Given the description of an element on the screen output the (x, y) to click on. 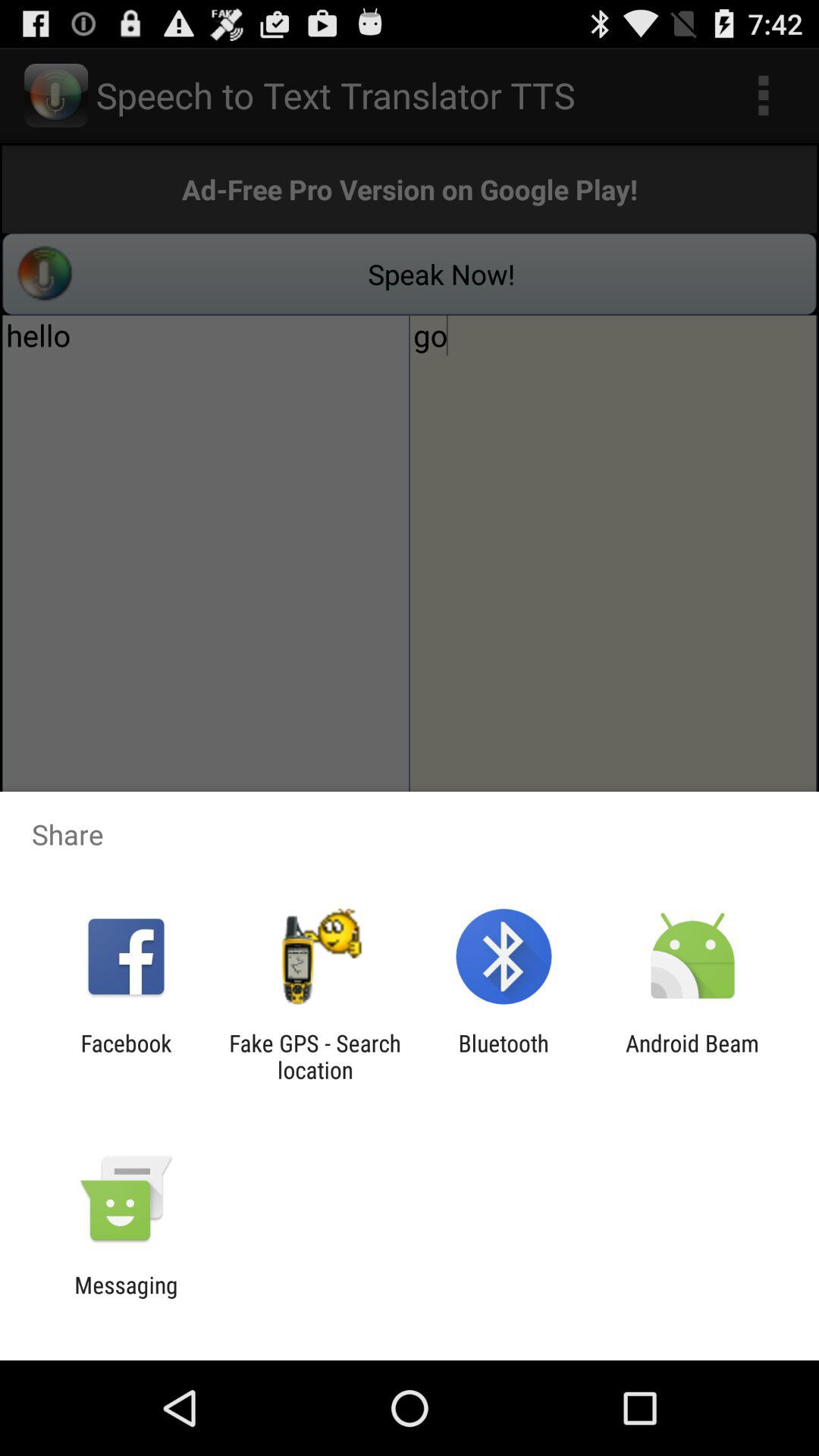
launch the app next to the bluetooth app (314, 1056)
